Given the description of an element on the screen output the (x, y) to click on. 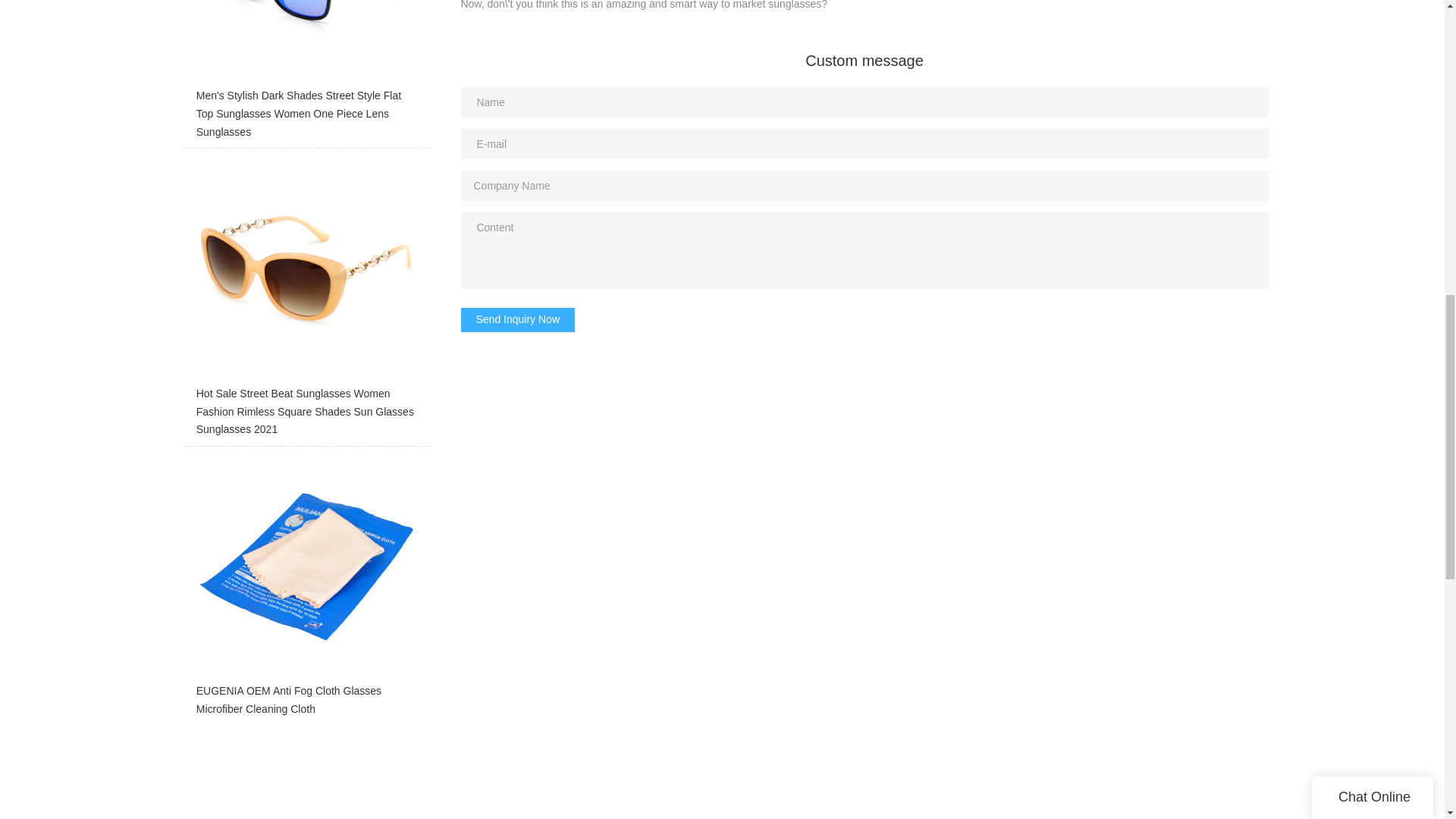
EUGENIA OEM Anti Fog Cloth Glasses Microfiber Cleaning Cloth (306, 589)
Send Inquiry Now (518, 319)
